Given the description of an element on the screen output the (x, y) to click on. 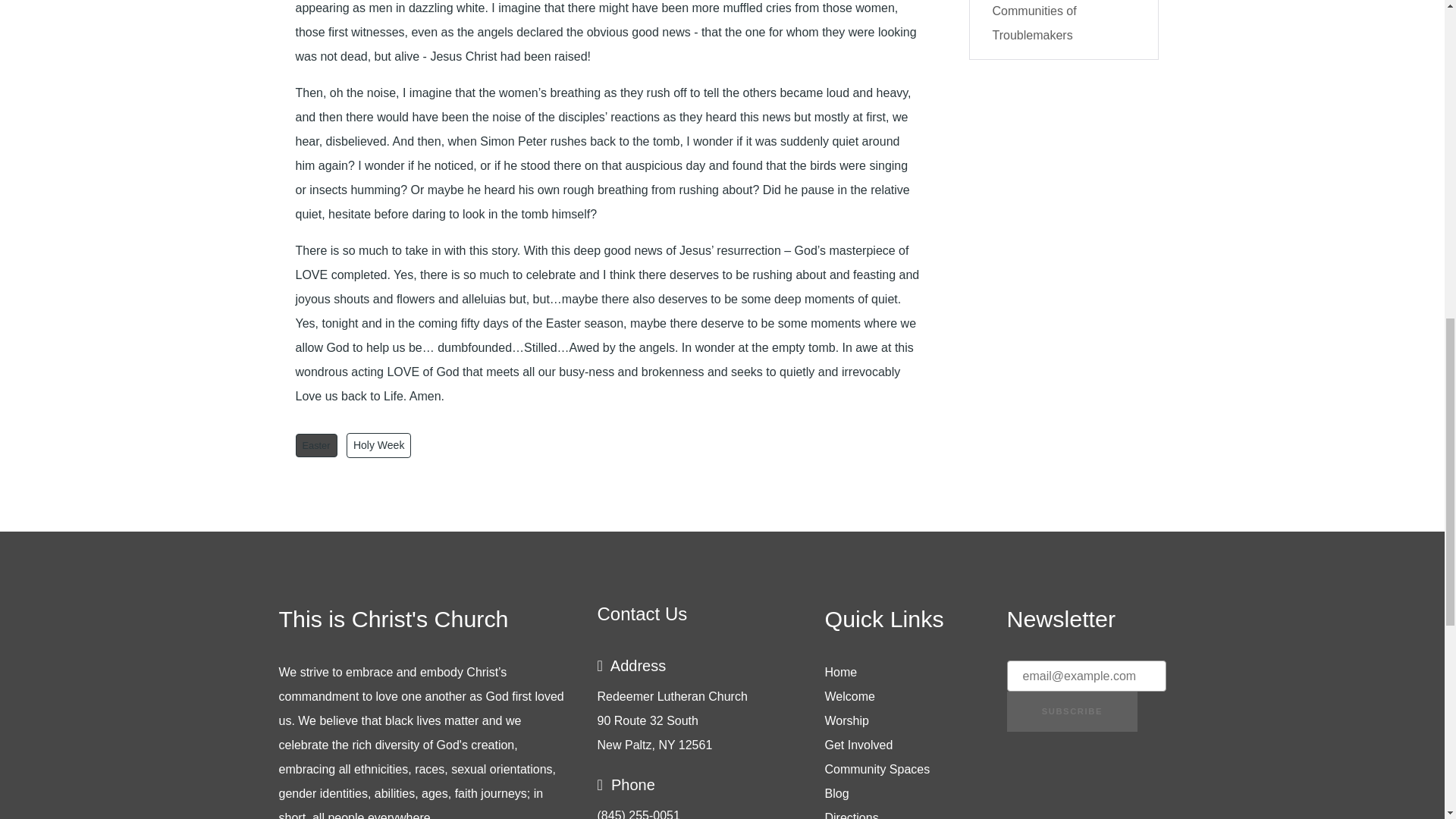
Easter (316, 445)
Holy Week (378, 445)
Communities of Troublemakers (1034, 22)
